Given the description of an element on the screen output the (x, y) to click on. 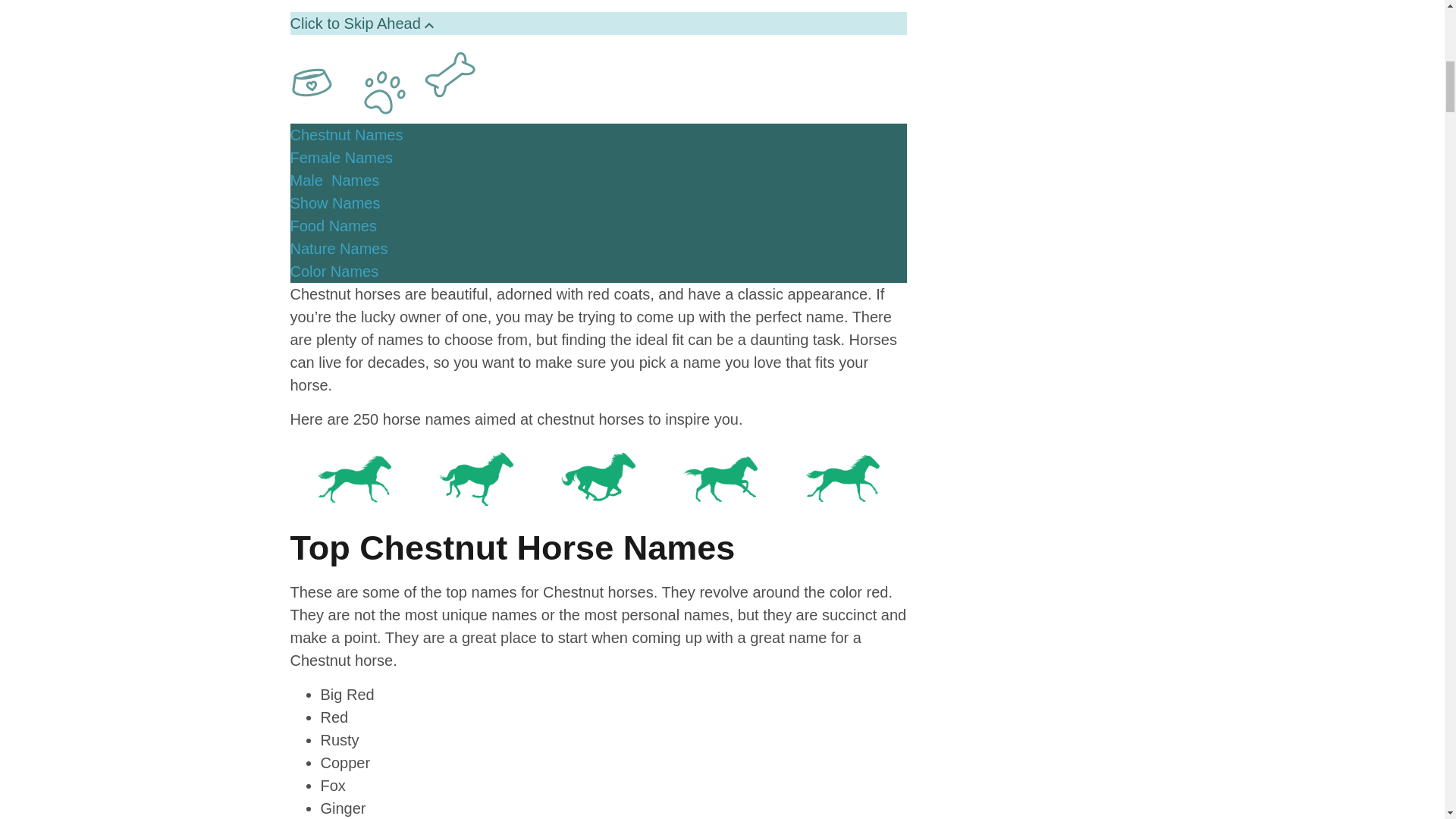
Male  Names (333, 180)
Color Names (333, 271)
Chestnut Names (346, 134)
Food Names (333, 225)
Nature Names (338, 248)
Female Names (341, 157)
Show Names (334, 202)
